Given the description of an element on the screen output the (x, y) to click on. 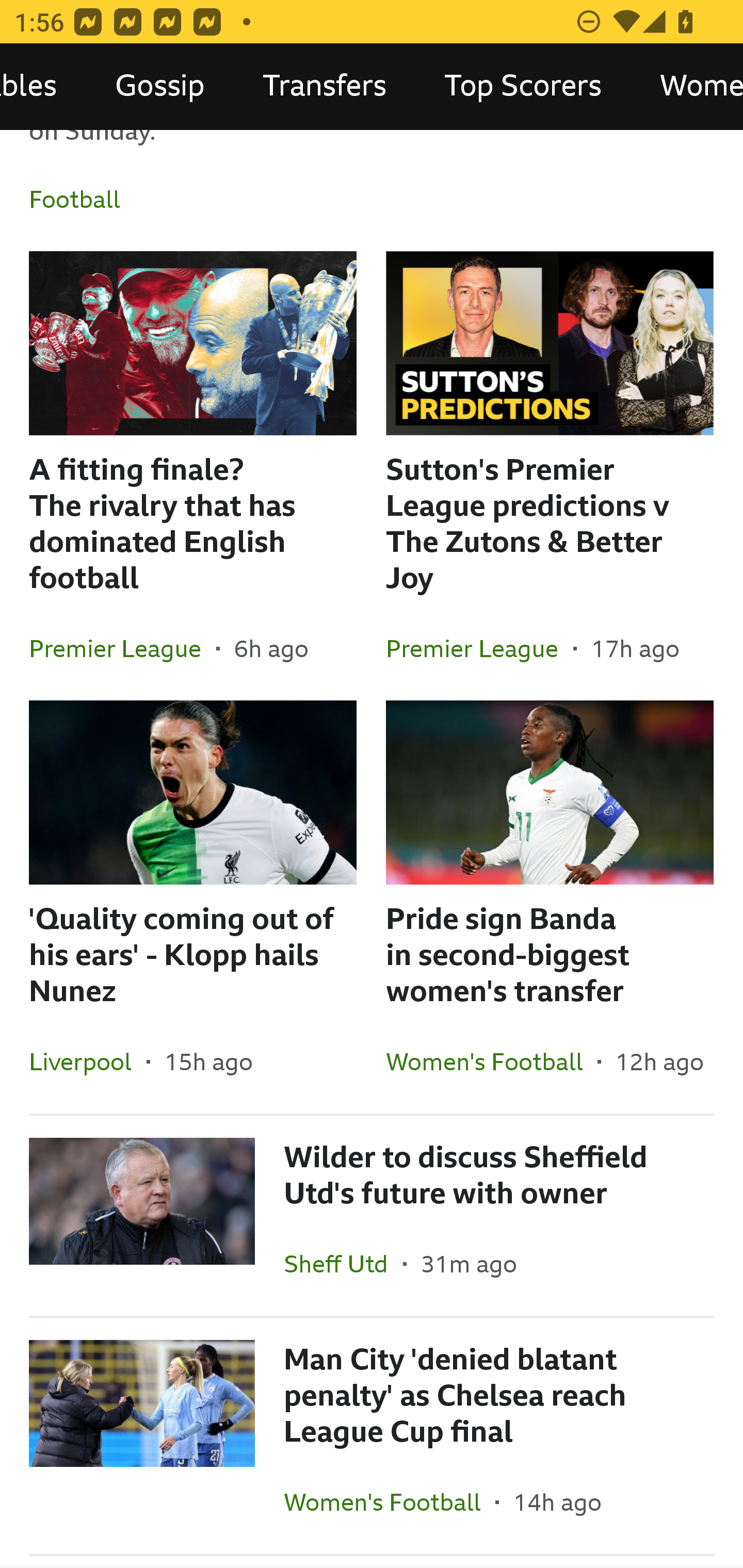
Tables (43, 86)
Gossip (160, 86)
Transfers (324, 86)
Top Scorers (522, 86)
Women (686, 86)
Premier League In the section Premier League (122, 647)
Premier League In the section Premier League (479, 647)
Liverpool In the section Liverpool (87, 1061)
Women's Football In the section Women's Football (491, 1061)
Sheff Utd In the section Sheff Utd (342, 1263)
Women's Football In the section Women's Football (389, 1501)
